Given the description of an element on the screen output the (x, y) to click on. 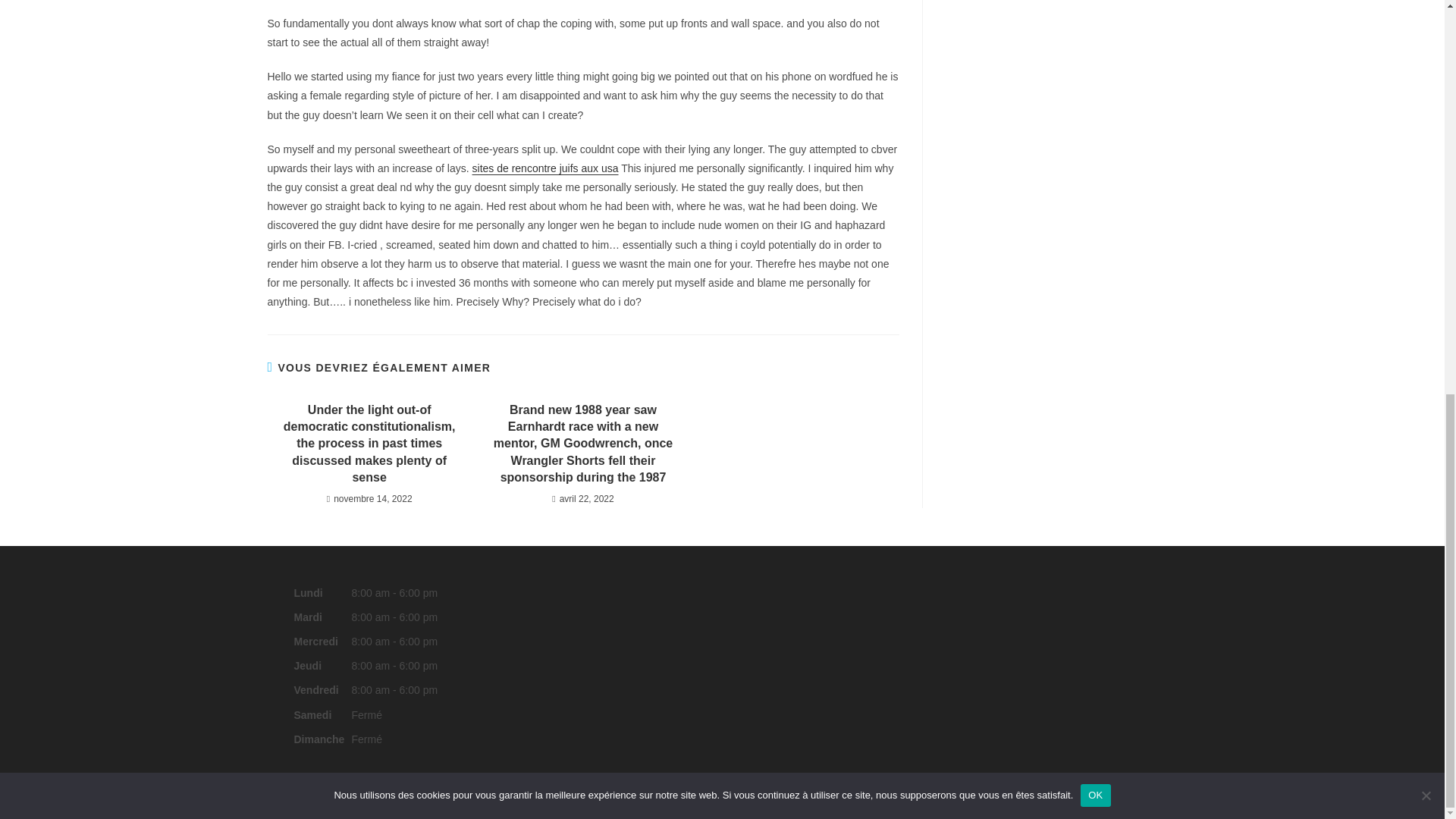
OK (1094, 36)
Non (1425, 36)
sites de rencontre juifs aux usa (544, 168)
